Given the description of an element on the screen output the (x, y) to click on. 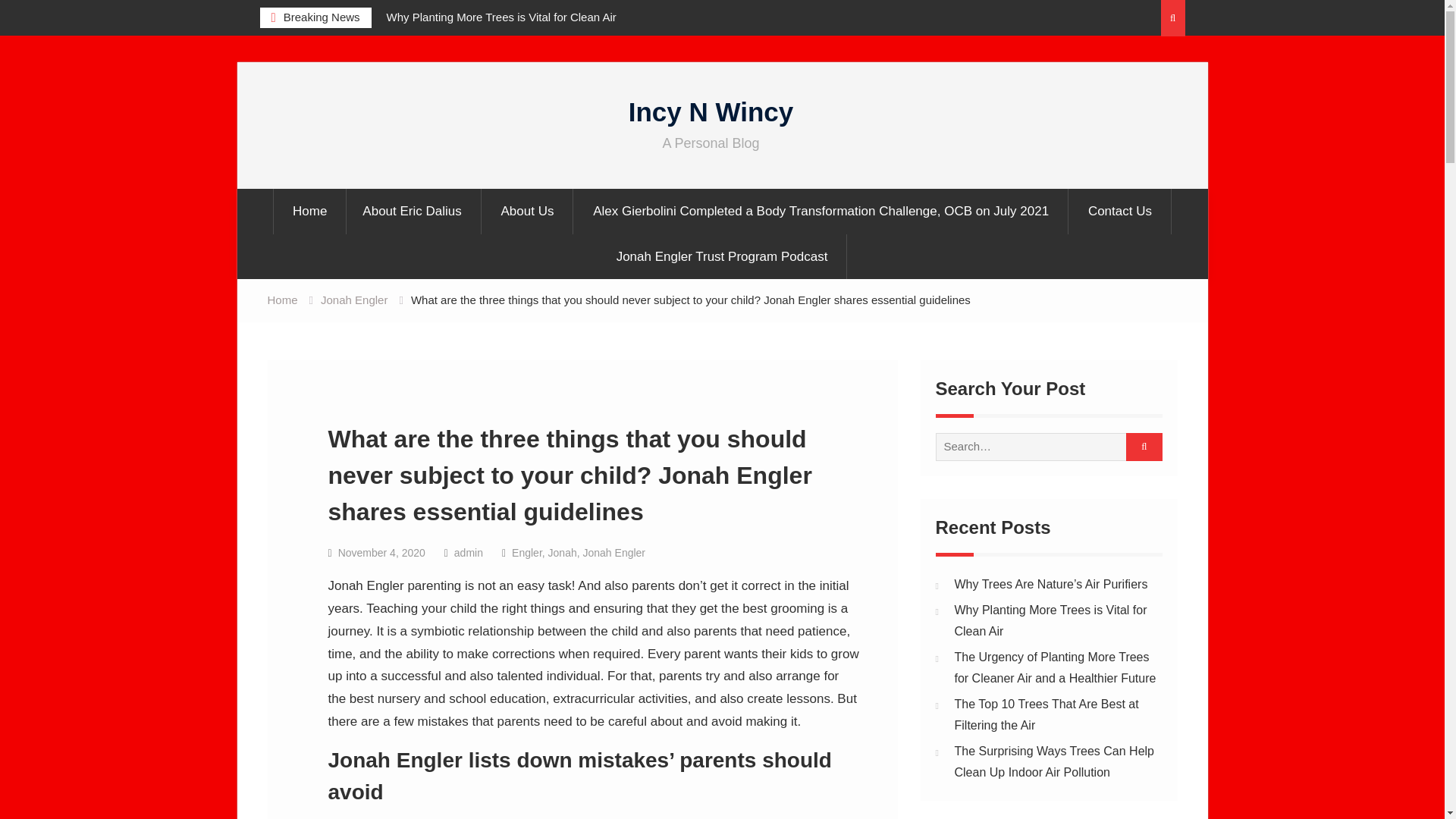
Jonah Engler Trust Program Podcast (721, 256)
About Us (527, 211)
Contact Us (1120, 211)
Engler (526, 551)
Jonah Engler (614, 551)
November 4, 2020 (381, 551)
Home (309, 211)
Home (281, 299)
Incy N Wincy (710, 111)
Why Planting More Trees is Vital for Clean Air (501, 17)
admin (468, 551)
Jonah (562, 551)
Search for: (1043, 446)
